Given the description of an element on the screen output the (x, y) to click on. 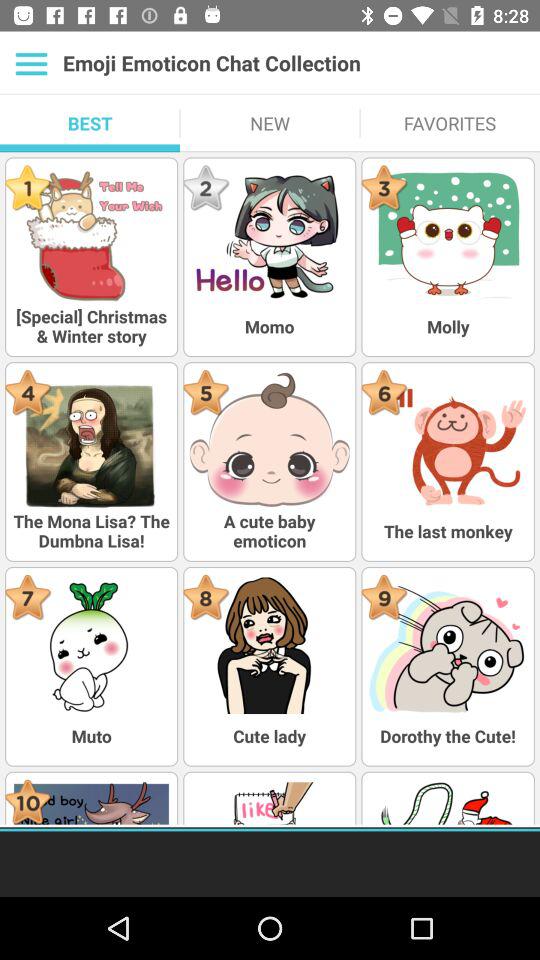
open menu (31, 63)
